Given the description of an element on the screen output the (x, y) to click on. 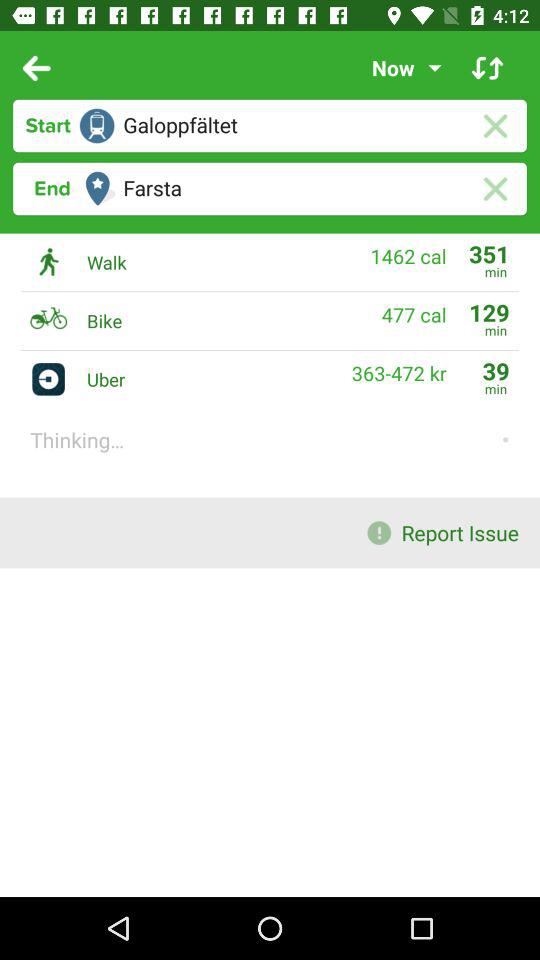
launch the item next to the now item (487, 68)
